Given the description of an element on the screen output the (x, y) to click on. 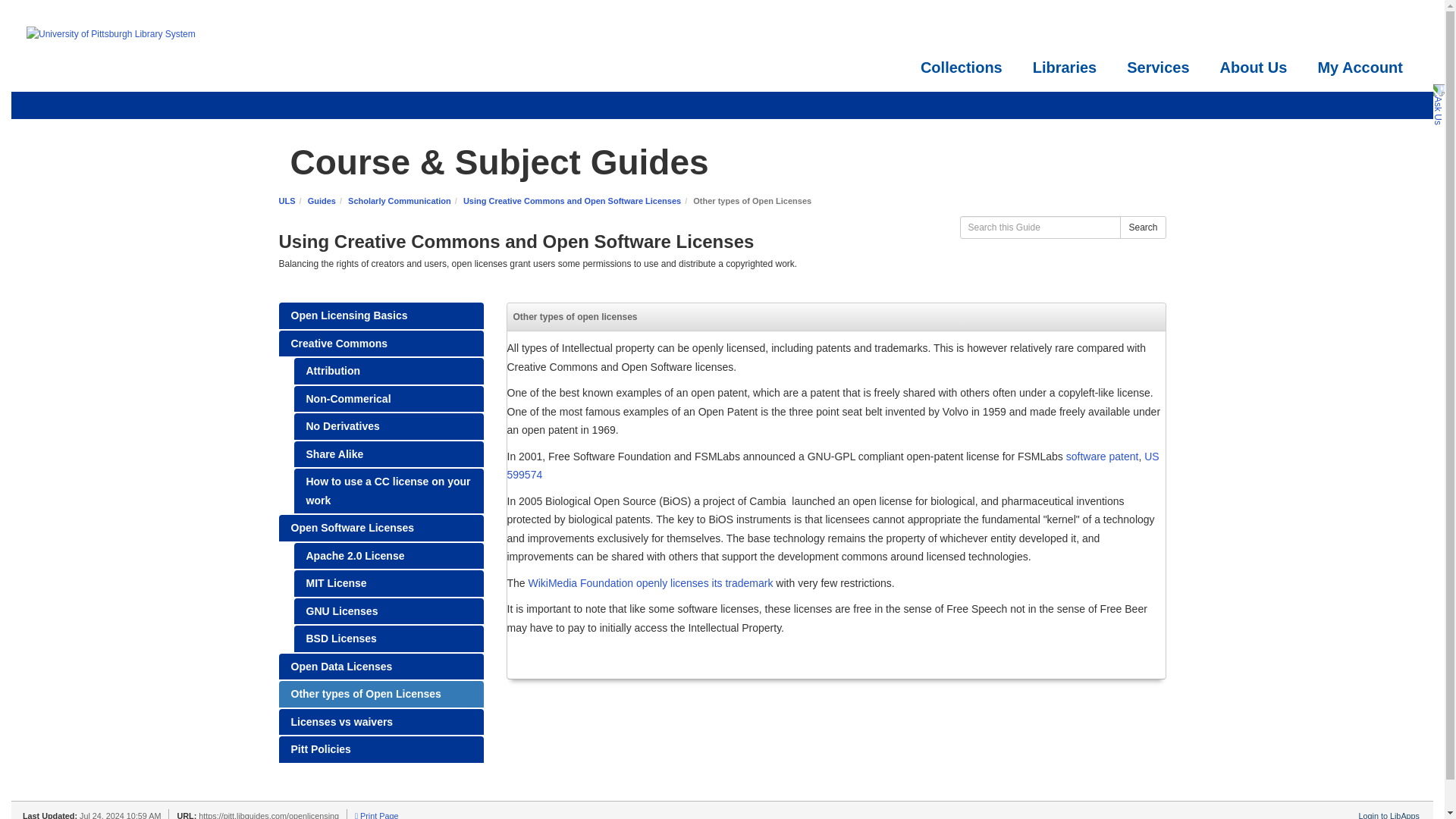
How to use a CC license on your work (388, 490)
About Us (1252, 67)
University of Pittsburgh Library System (178, 35)
Apache 2.0 License (388, 555)
Attribution (388, 370)
No Derivatives (388, 426)
Creative Commons (381, 343)
Collections (961, 67)
Guides (321, 200)
Search (1142, 227)
